Given the description of an element on the screen output the (x, y) to click on. 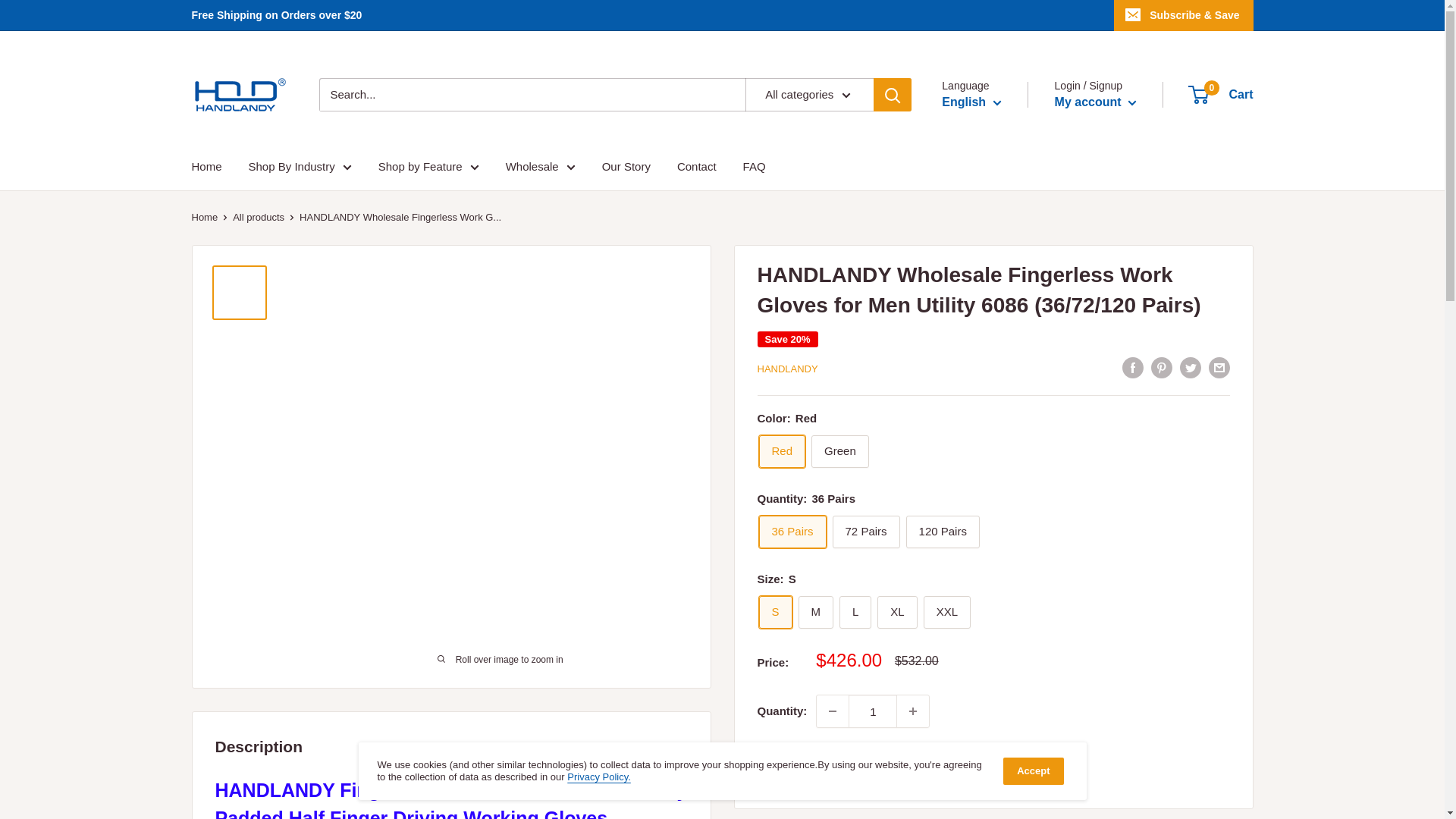
Green (839, 450)
1 (872, 711)
Decrease quantity by 1 (832, 711)
Red (781, 450)
M (815, 612)
XL (897, 612)
L (855, 612)
120 Pairs (942, 531)
Increase quantity by 1 (912, 711)
Privacy Policy (598, 776)
72 Pairs (865, 531)
S (775, 612)
XXL (947, 612)
36 Pairs (791, 531)
